Given the description of an element on the screen output the (x, y) to click on. 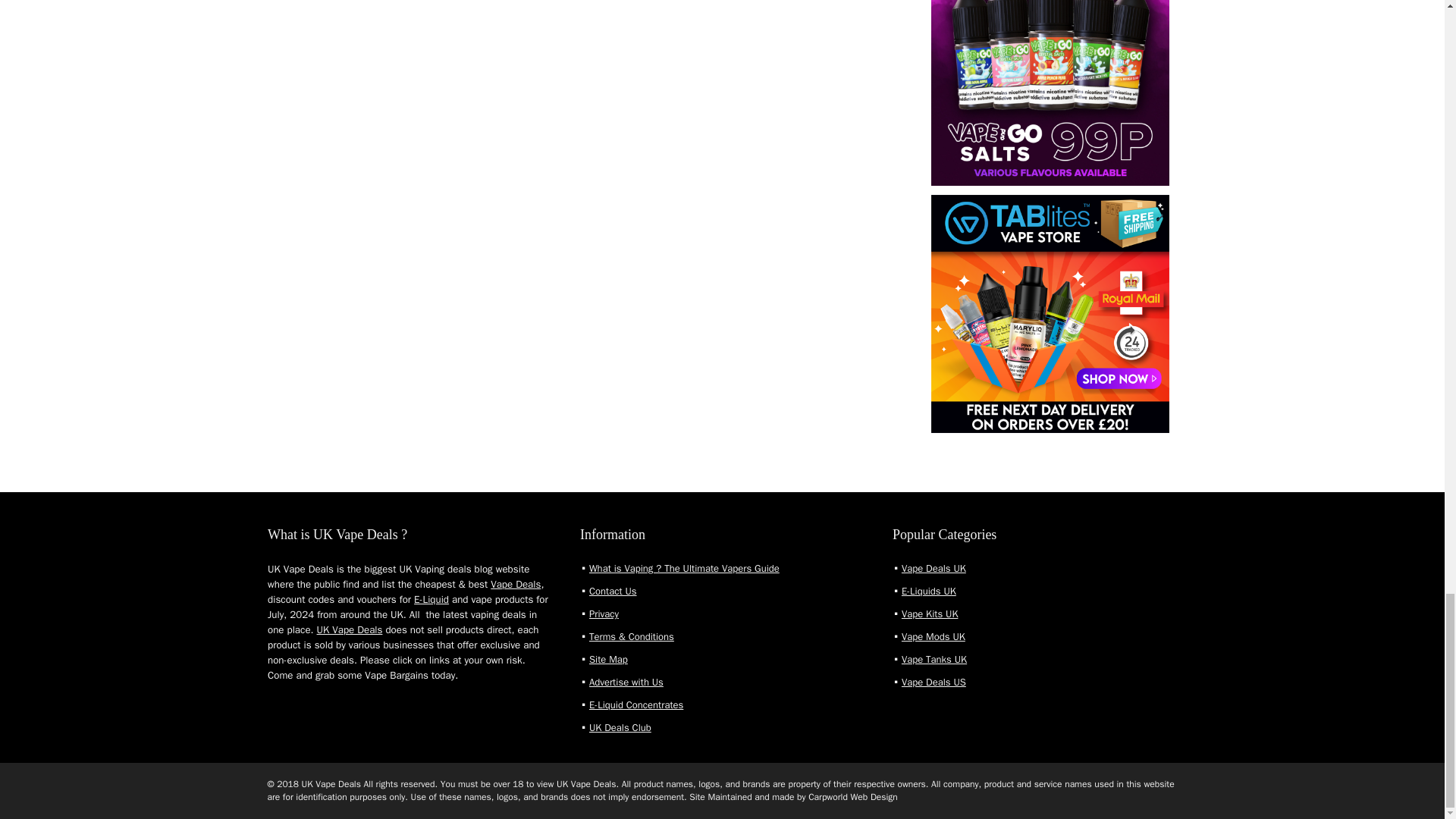
E-Liquid Concentrates UK (635, 704)
Vape Deals UK (933, 567)
